Given the description of an element on the screen output the (x, y) to click on. 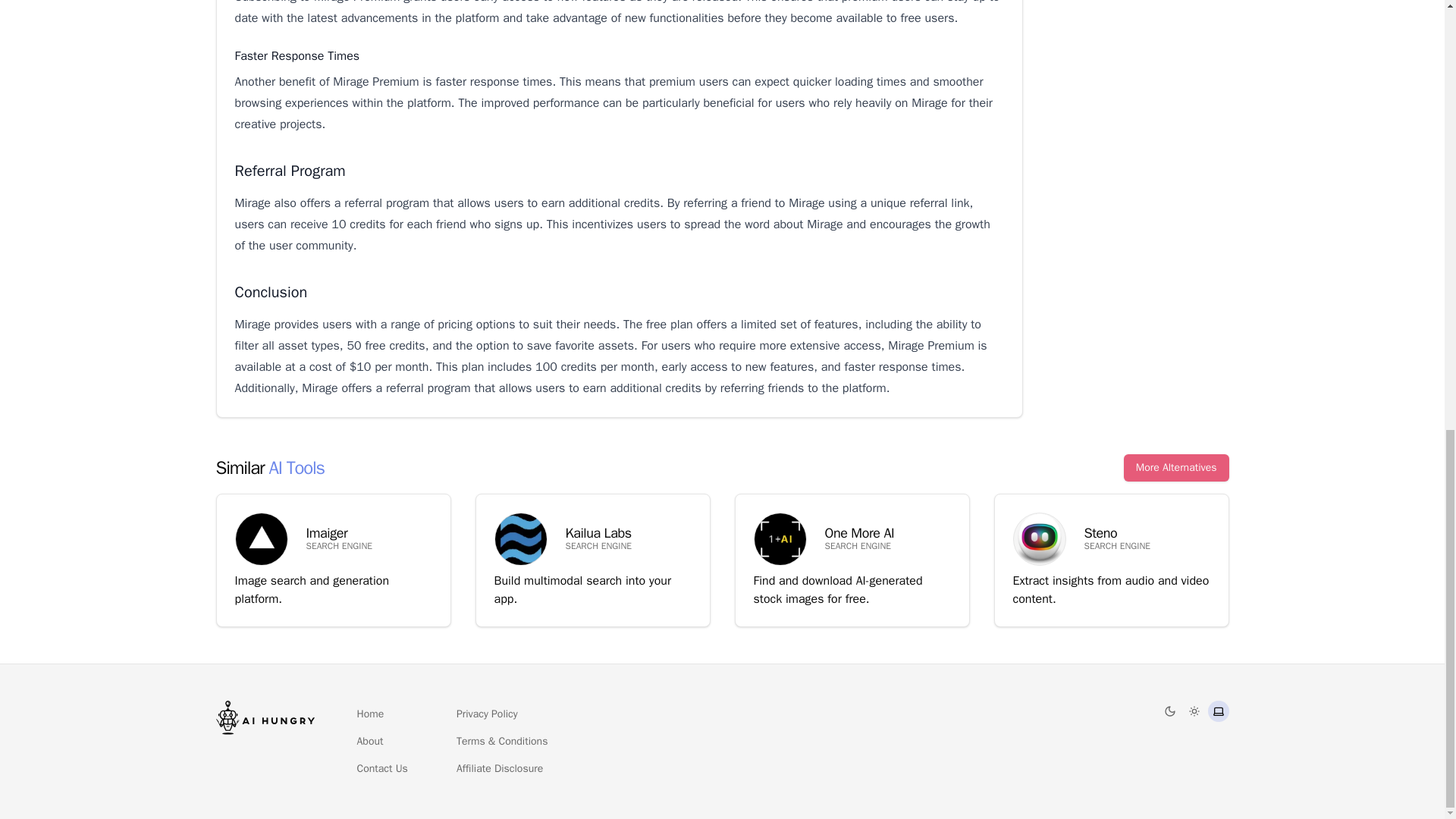
About (369, 741)
More Alternatives (1176, 467)
Contact Us (332, 560)
Privacy Policy (381, 768)
light (486, 714)
dark (1193, 711)
